Given the description of an element on the screen output the (x, y) to click on. 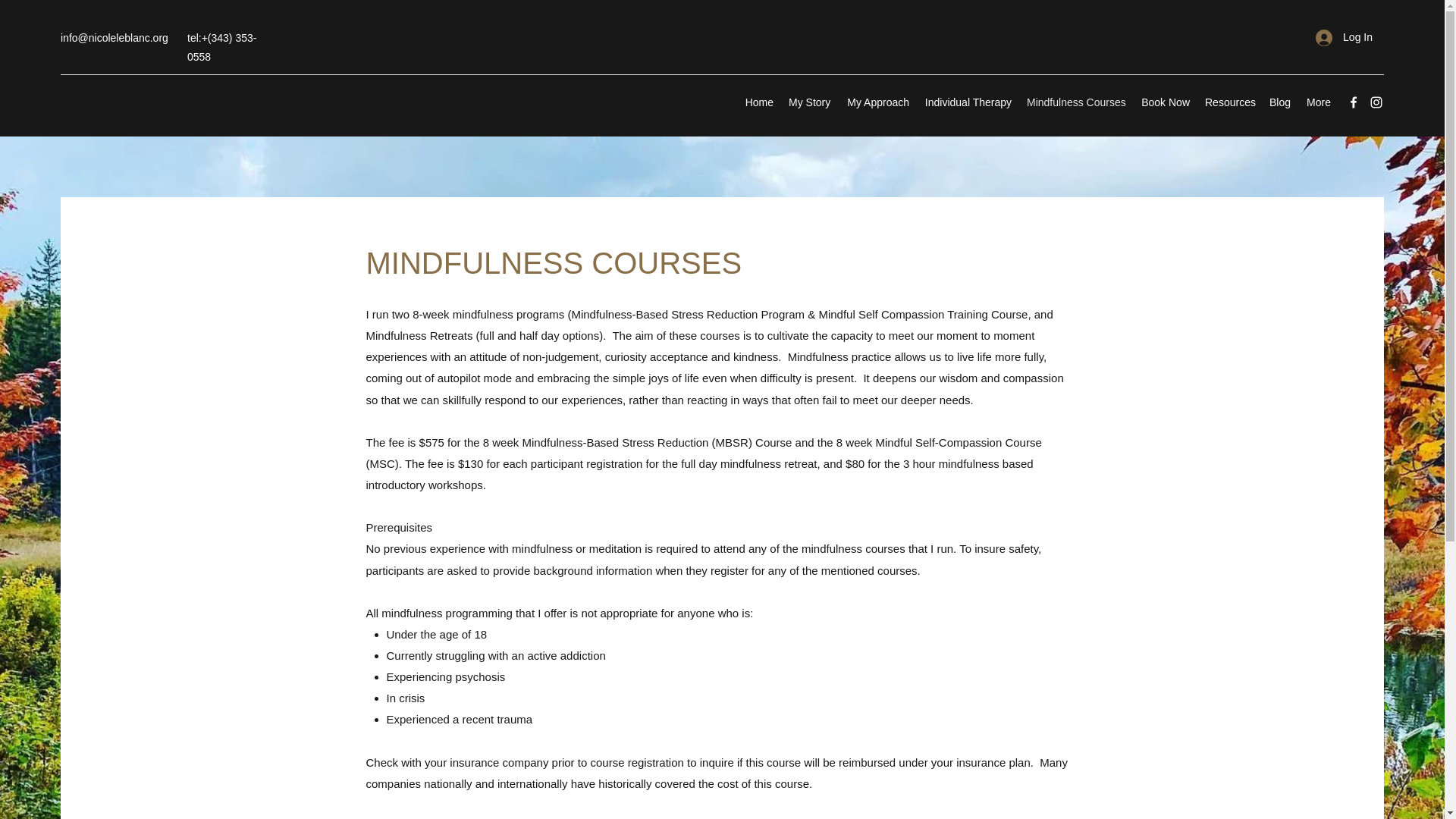
Resources (1228, 101)
Home (758, 101)
My Story (808, 101)
Log In (1343, 37)
Blog (1279, 101)
Mindfulness Courses (1075, 101)
Individual Therapy (968, 101)
Book Now (1164, 101)
My Approach (877, 101)
